Given the description of an element on the screen output the (x, y) to click on. 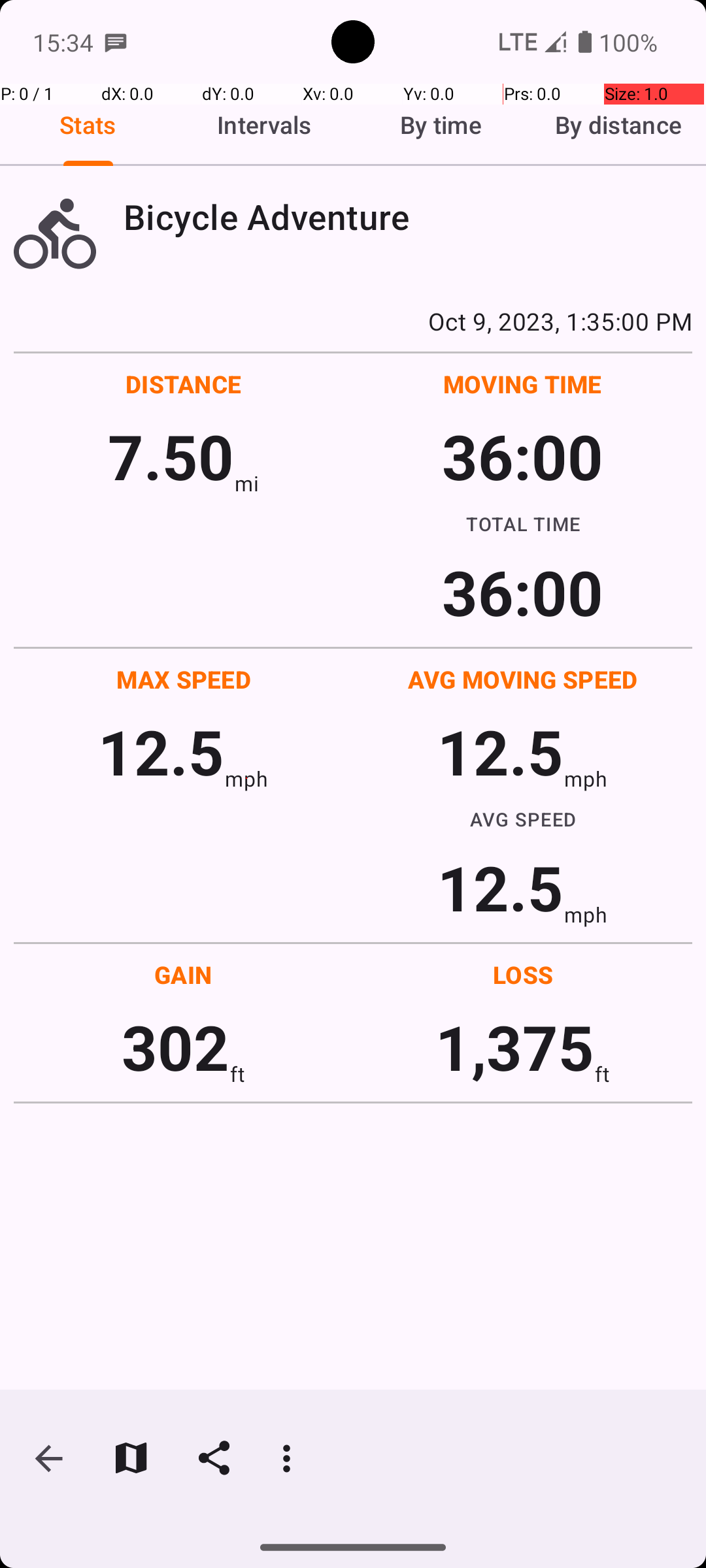
Bicycle Adventure Element type: android.widget.TextView (407, 216)
Oct 9, 2023, 1:35:00 PM Element type: android.widget.TextView (352, 320)
7.50 Element type: android.widget.TextView (170, 455)
36:00 Element type: android.widget.TextView (522, 455)
12.5 Element type: android.widget.TextView (161, 750)
302 Element type: android.widget.TextView (175, 1045)
1,375 Element type: android.widget.TextView (514, 1045)
